Given the description of an element on the screen output the (x, y) to click on. 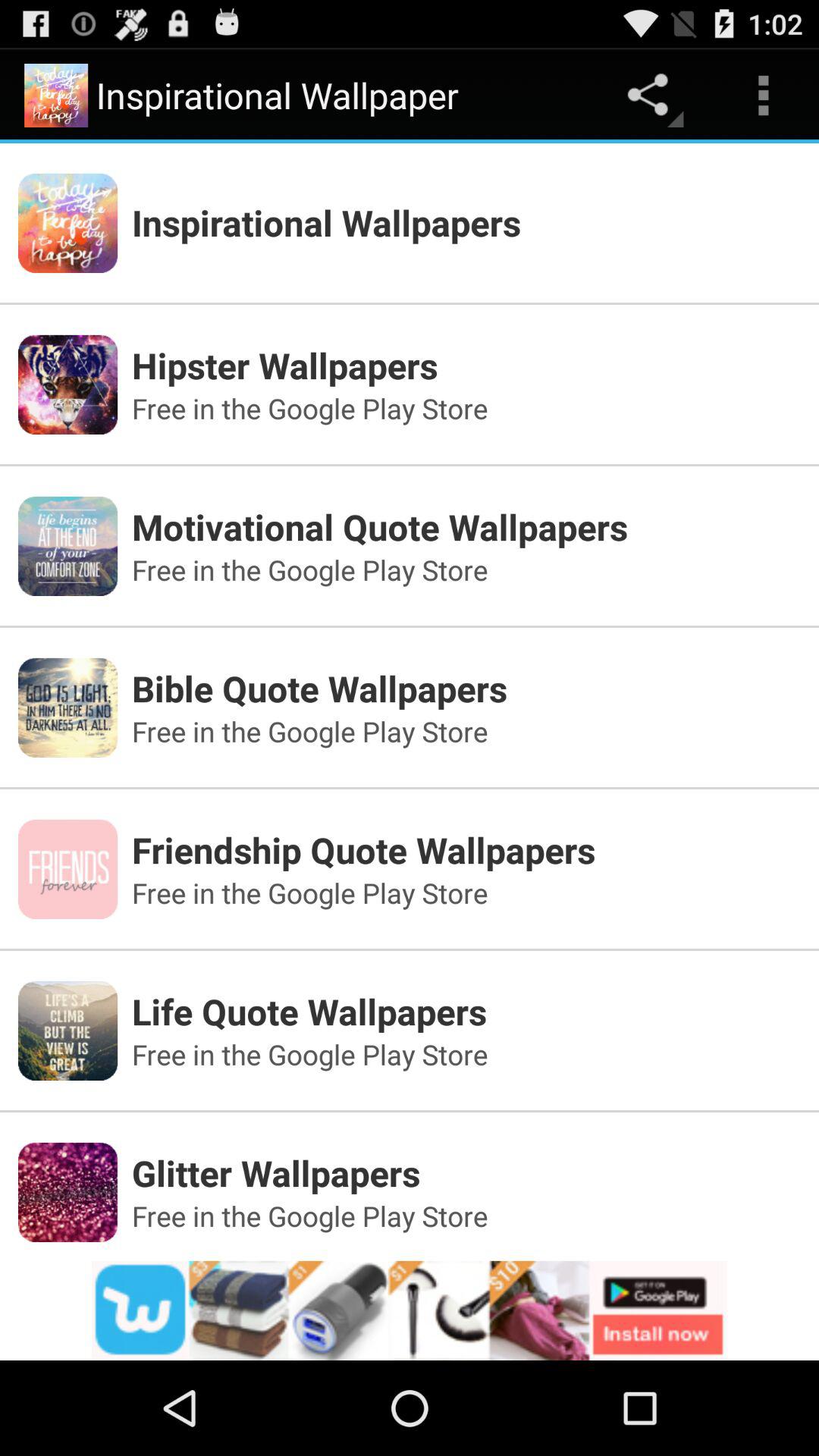
know about the advertisement (409, 1310)
